Given the description of an element on the screen output the (x, y) to click on. 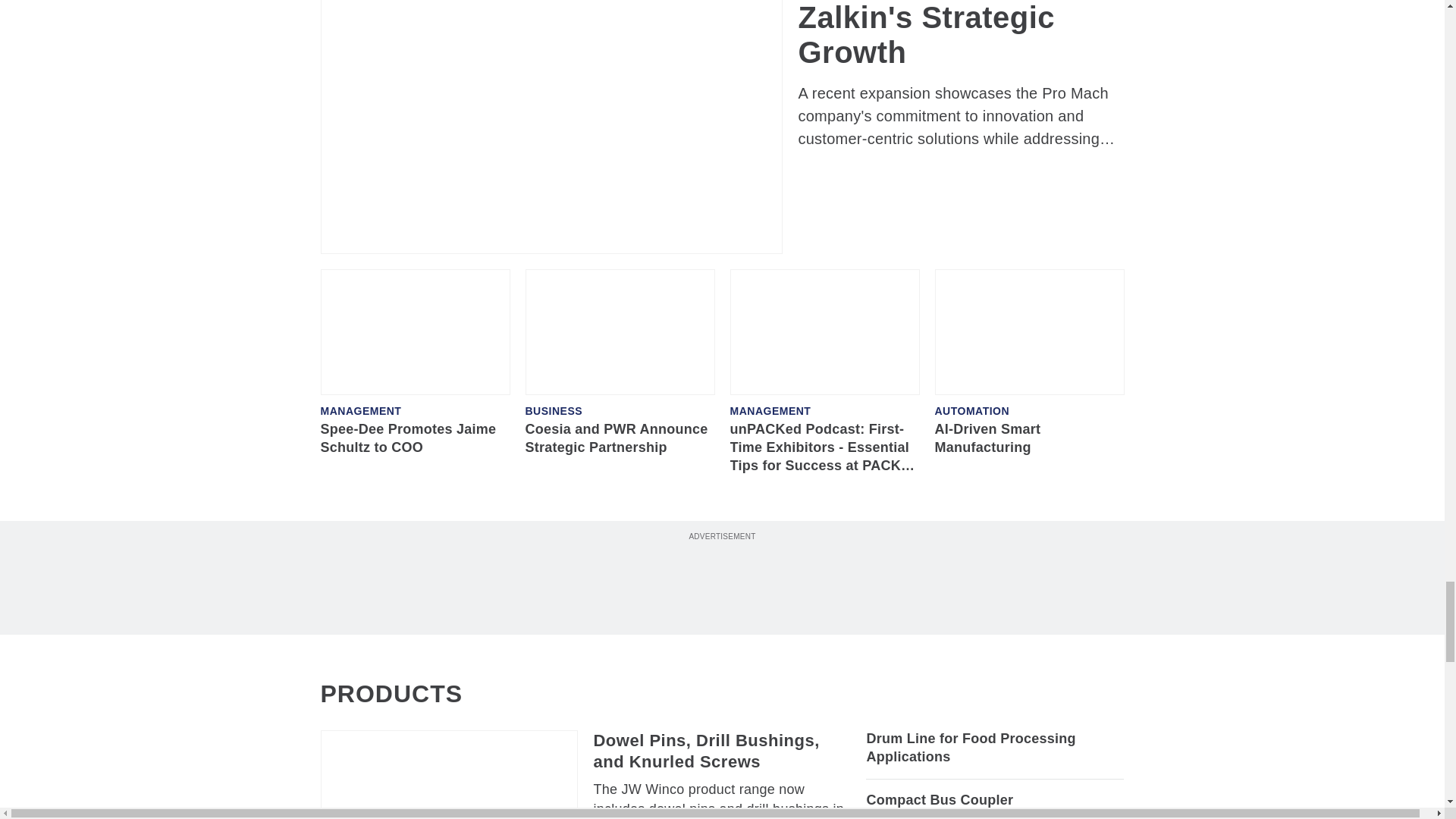
Business (553, 410)
